Given the description of an element on the screen output the (x, y) to click on. 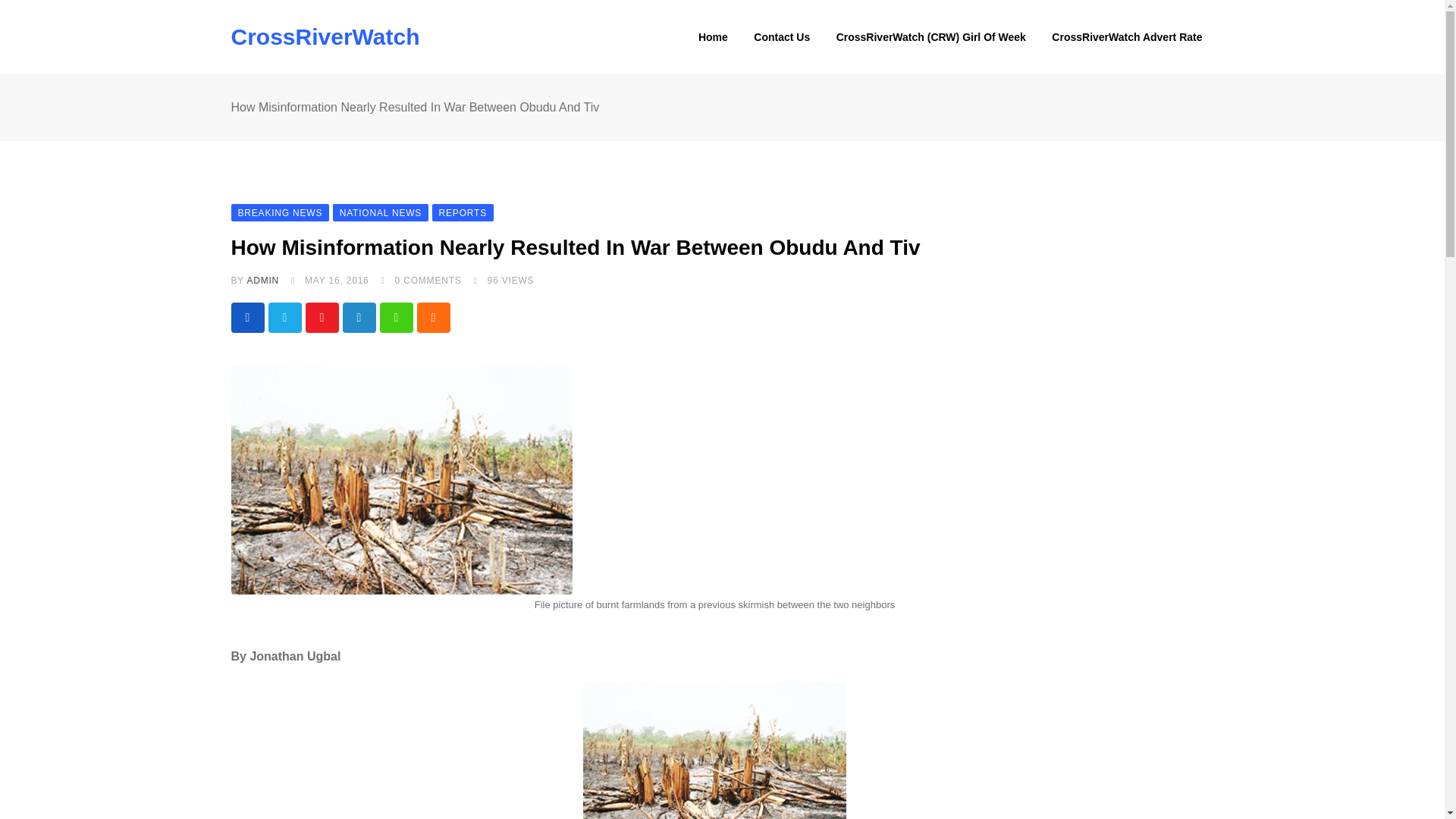
ADMIN (262, 280)
CrossRiverWatch (324, 36)
Whatsapp (395, 317)
NATIONAL NEWS (380, 211)
Posts by admin (262, 280)
Youtube (320, 317)
Contact Us (781, 37)
REPORTS (462, 211)
CrossRiverWatch Advert Rate (1126, 37)
LinkedIn (358, 317)
